Given the description of an element on the screen output the (x, y) to click on. 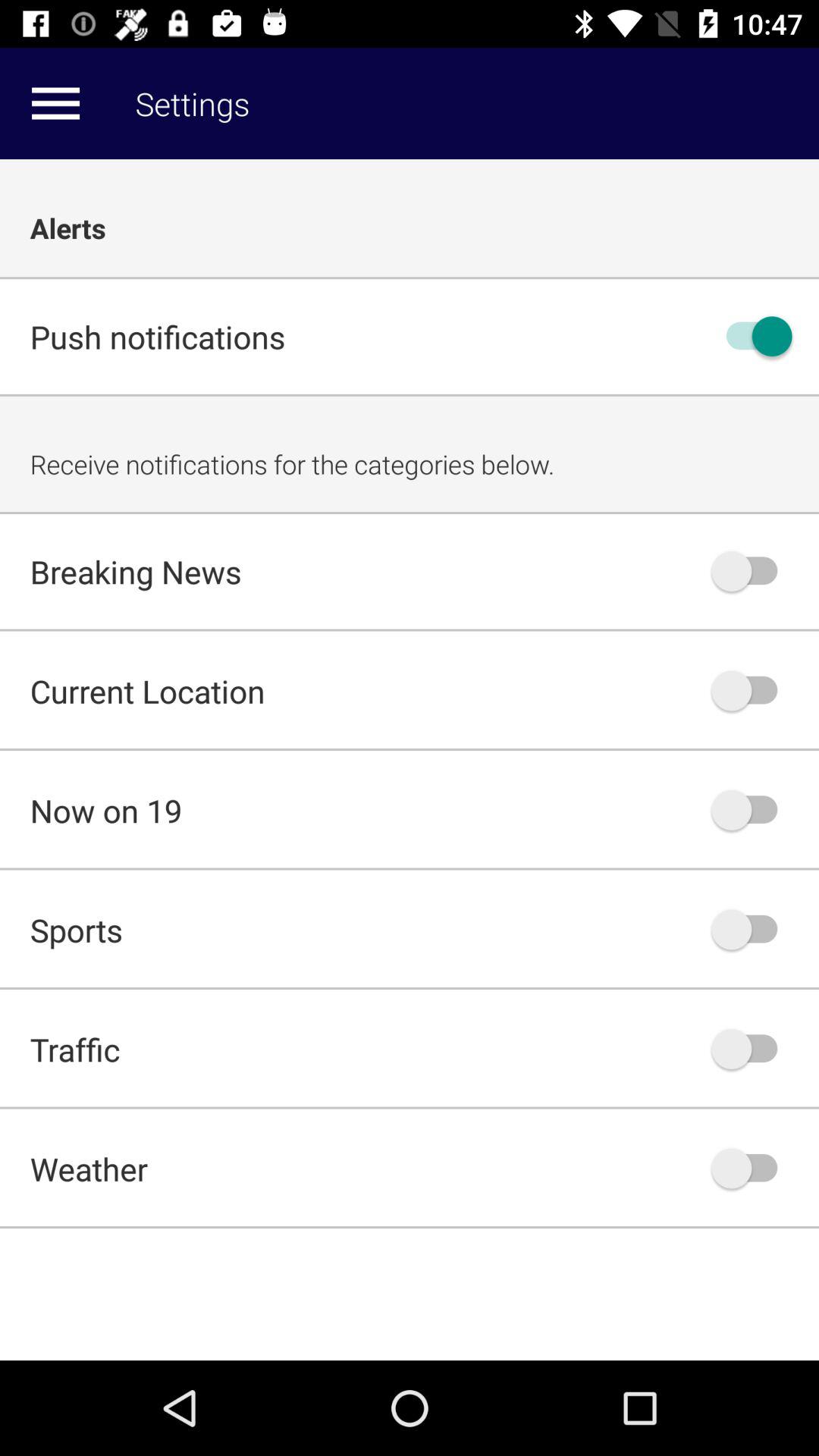
toggle now on 19 (751, 810)
